Given the description of an element on the screen output the (x, y) to click on. 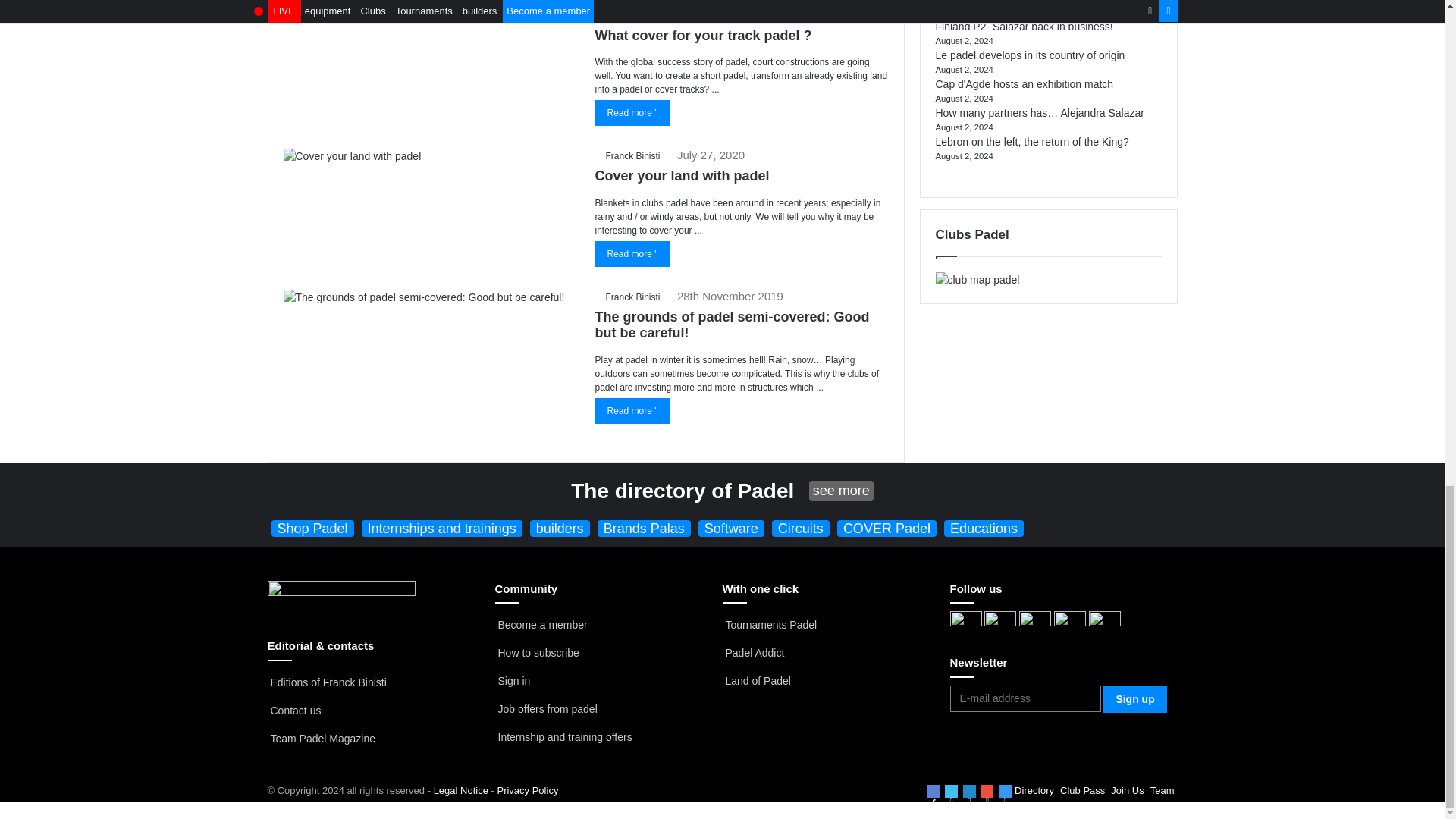
Sign up (1134, 699)
